Given the description of an element on the screen output the (x, y) to click on. 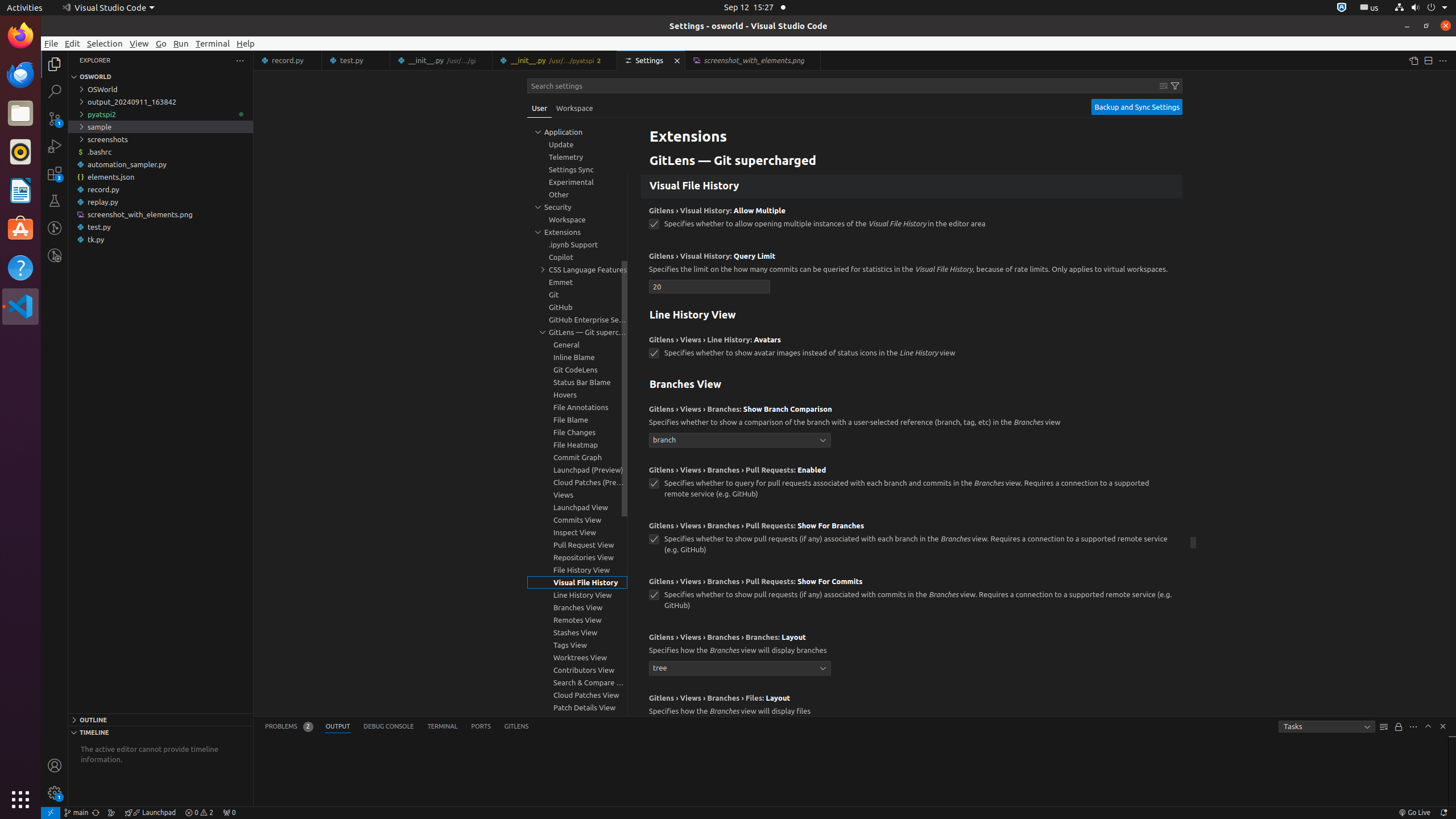
GitKraken Workspaces View, group Element type: tree-item (577, 719)
Gitlens › Visual History Allow Multiple. Specifies whether to allow opening multiple instances of the Visual File History in the editor area  Element type: tree-item (911, 220)
Workspace Element type: check-box (574, 107)
Terminal (Ctrl+`) Element type: page-tab (442, 726)
Problems (Ctrl+Shift+M) - Total 2 Problems Element type: page-tab (288, 726)
